Given the description of an element on the screen output the (x, y) to click on. 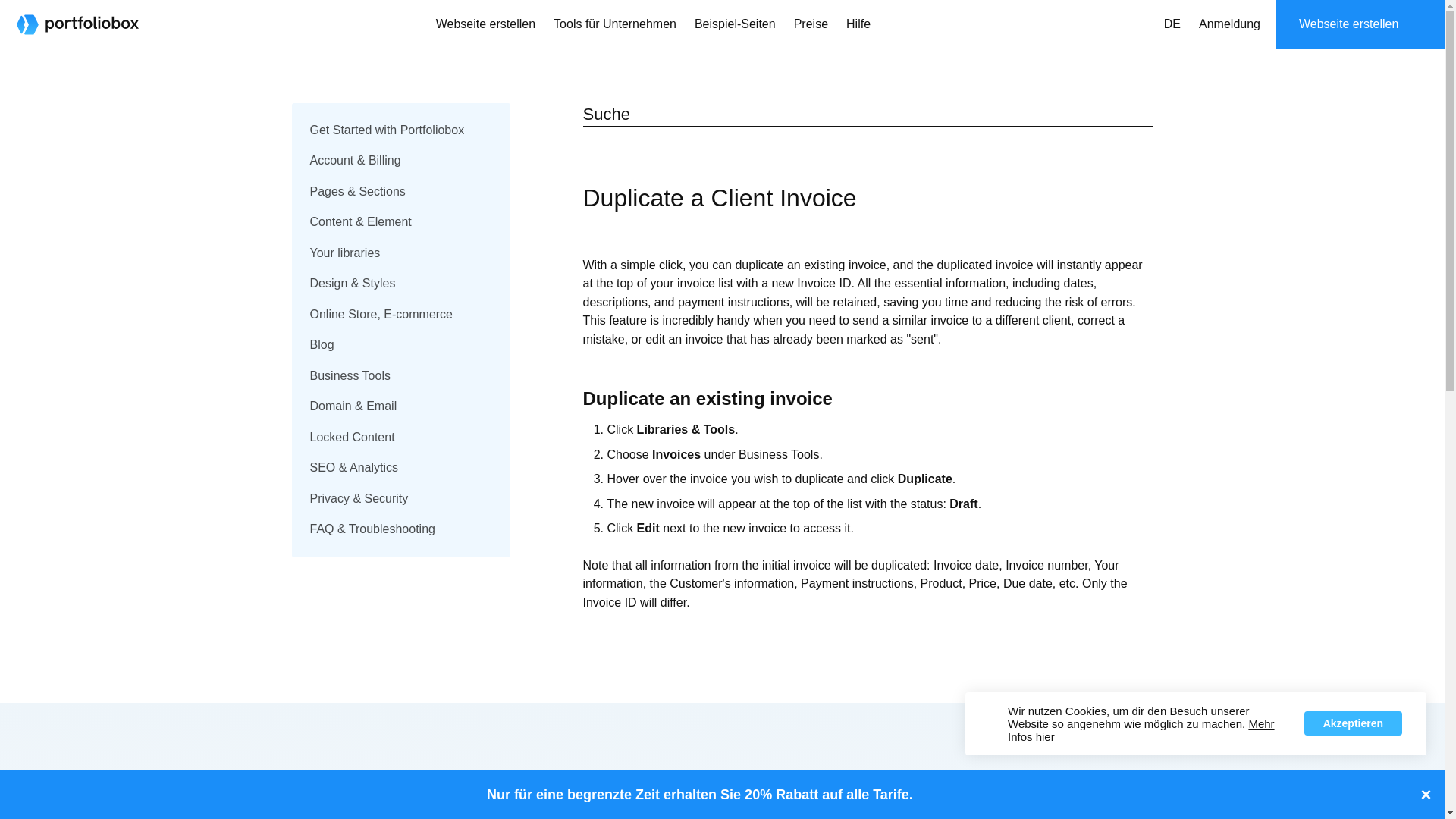
Beispiel-Seiten (734, 24)
Preise (810, 24)
Webseite erstellen (485, 24)
